Given the description of an element on the screen output the (x, y) to click on. 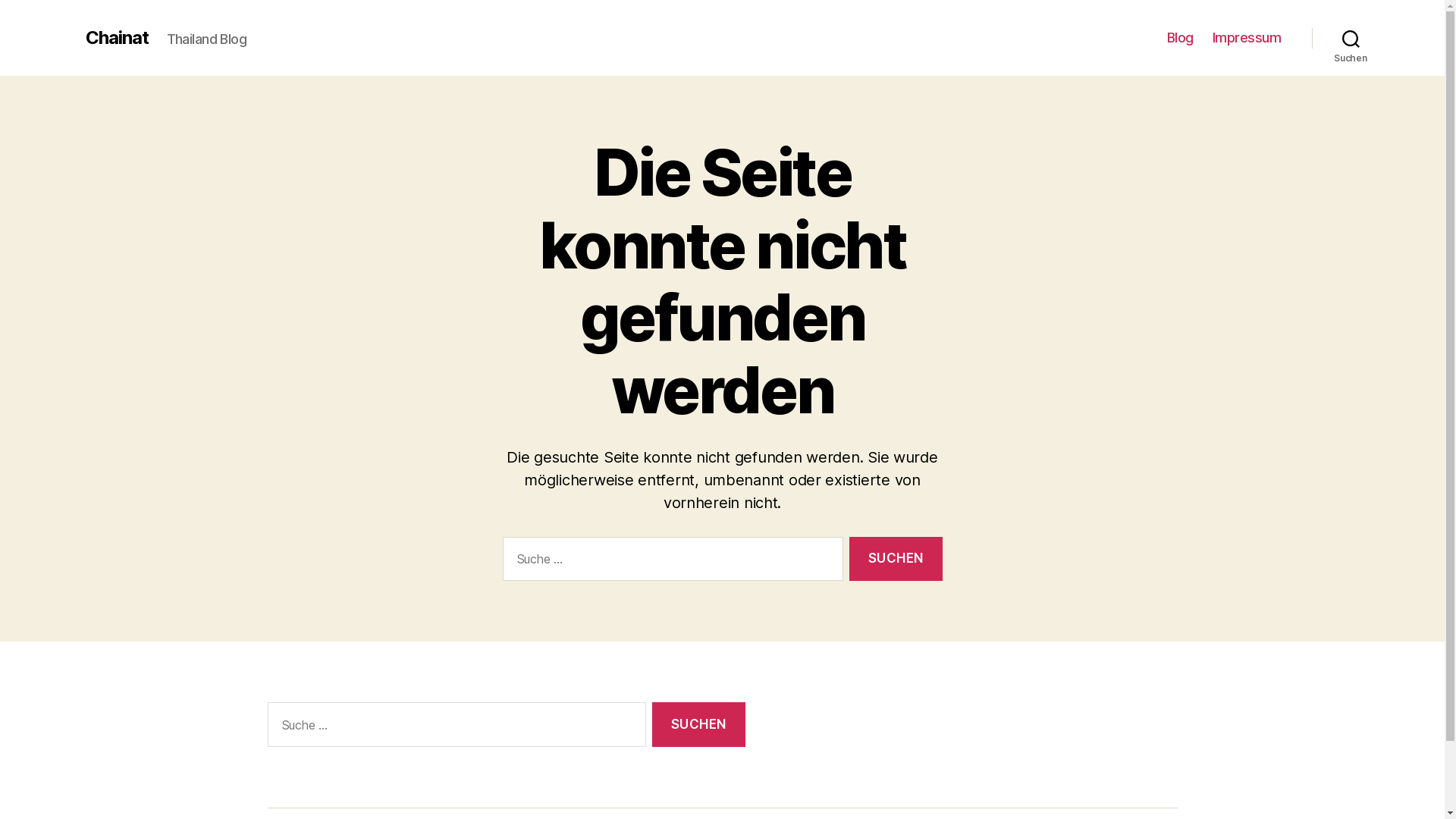
Impressum Element type: text (1246, 37)
Suchen Element type: text (895, 558)
Suchen Element type: text (1350, 37)
Chainat Element type: text (115, 37)
Suchen Element type: text (698, 724)
Blog Element type: text (1180, 37)
